Given the description of an element on the screen output the (x, y) to click on. 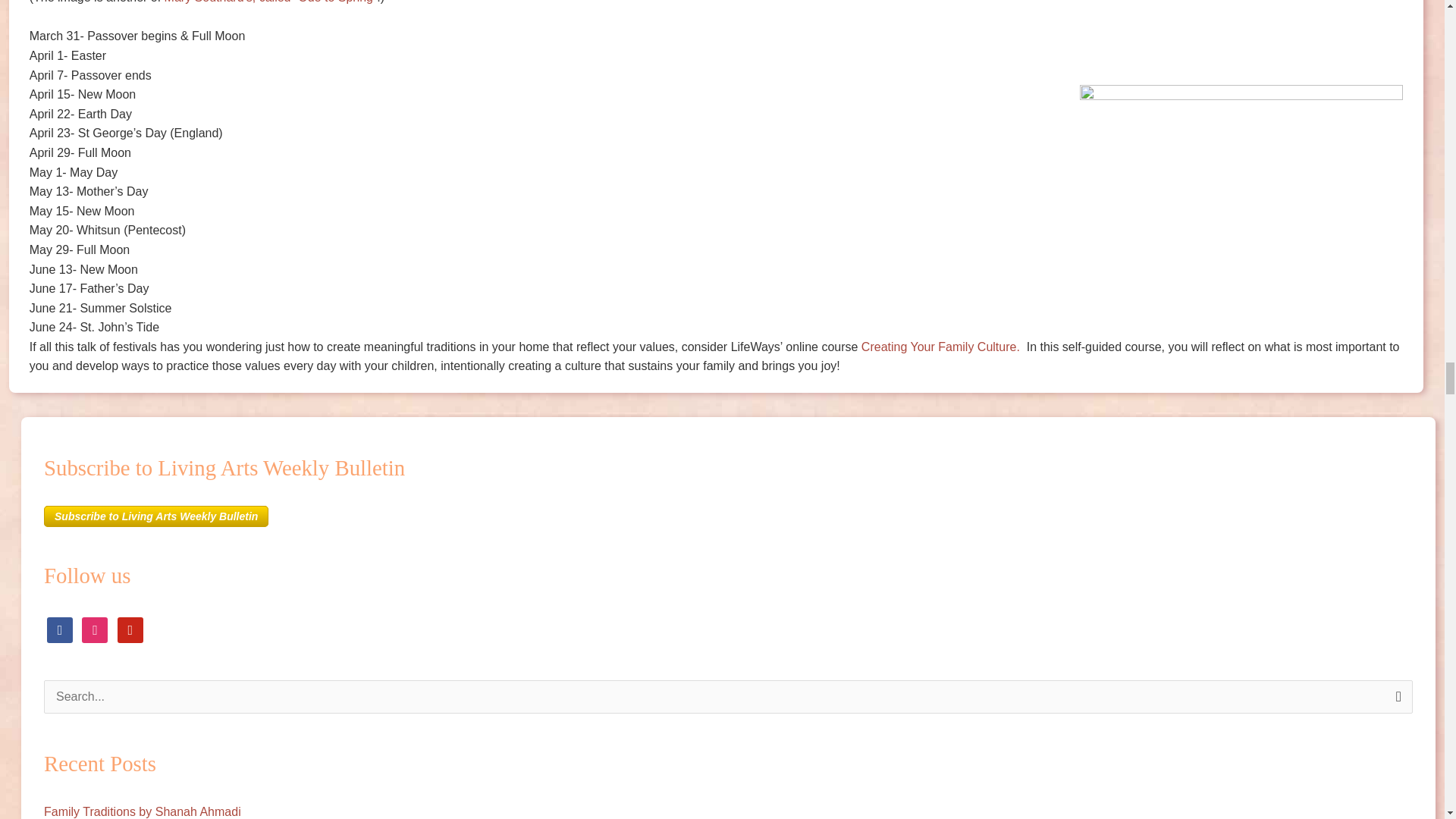
Facebook (59, 628)
Default Label (129, 628)
Instagram (94, 628)
